Given the description of an element on the screen output the (x, y) to click on. 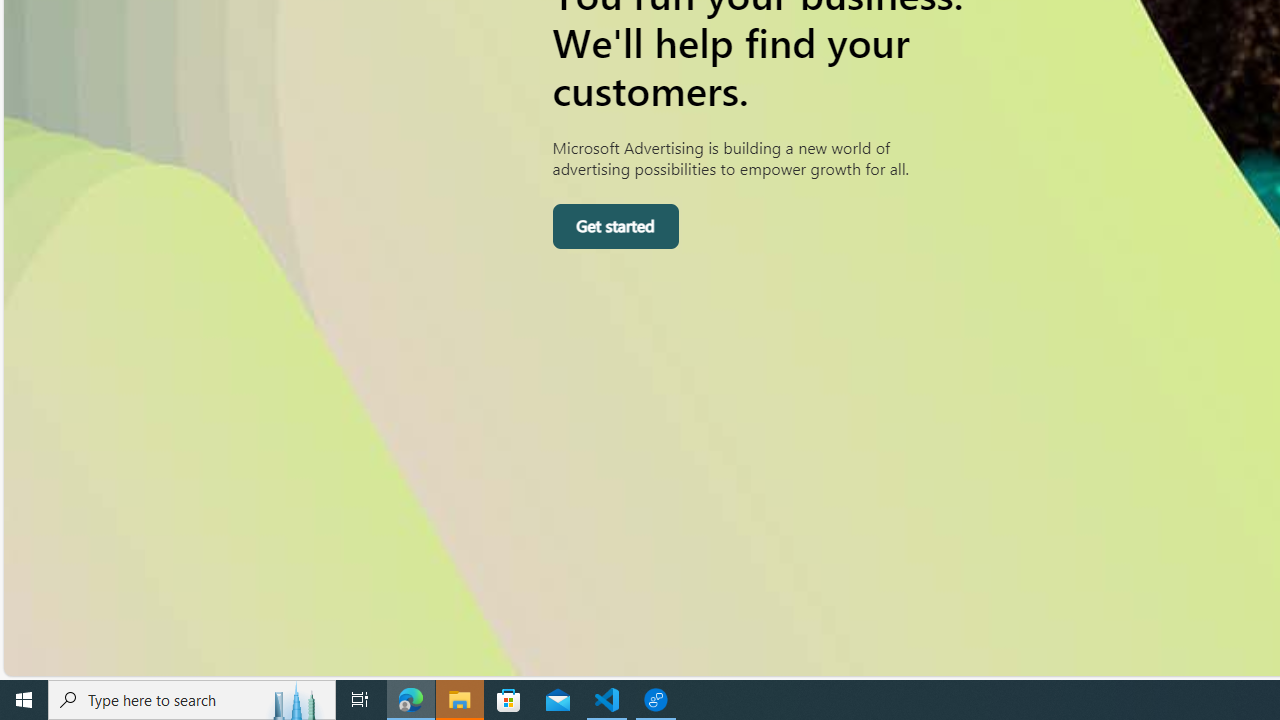
Get started (614, 226)
